Given the description of an element on the screen output the (x, y) to click on. 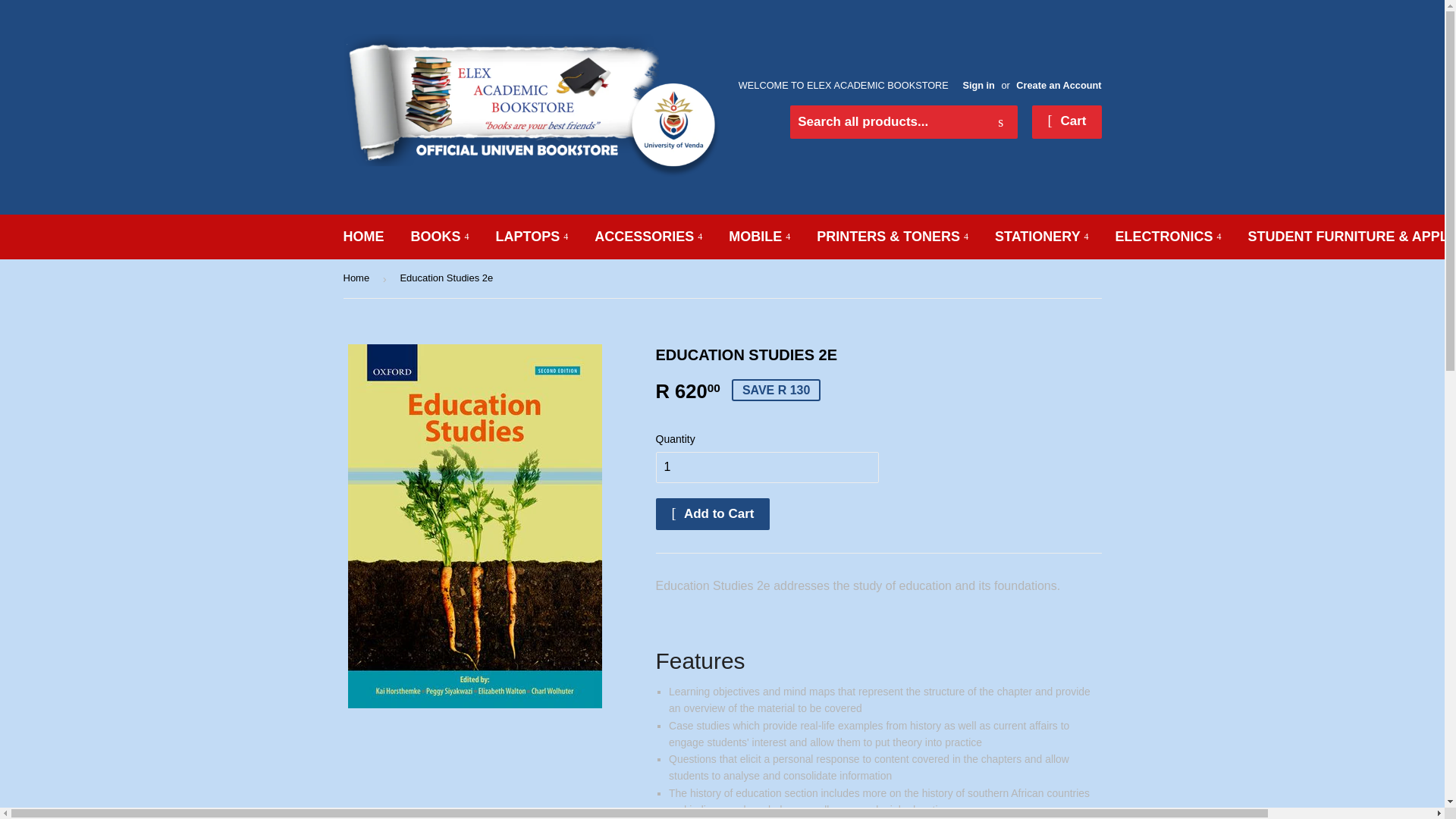
ACCESSORIES (648, 236)
Create an Account (1058, 84)
1 (766, 467)
Cart (1066, 121)
Sign in (978, 84)
HOME (363, 236)
Search (1000, 122)
BOOKS (439, 236)
LAPTOPS (531, 236)
